Given the description of an element on the screen output the (x, y) to click on. 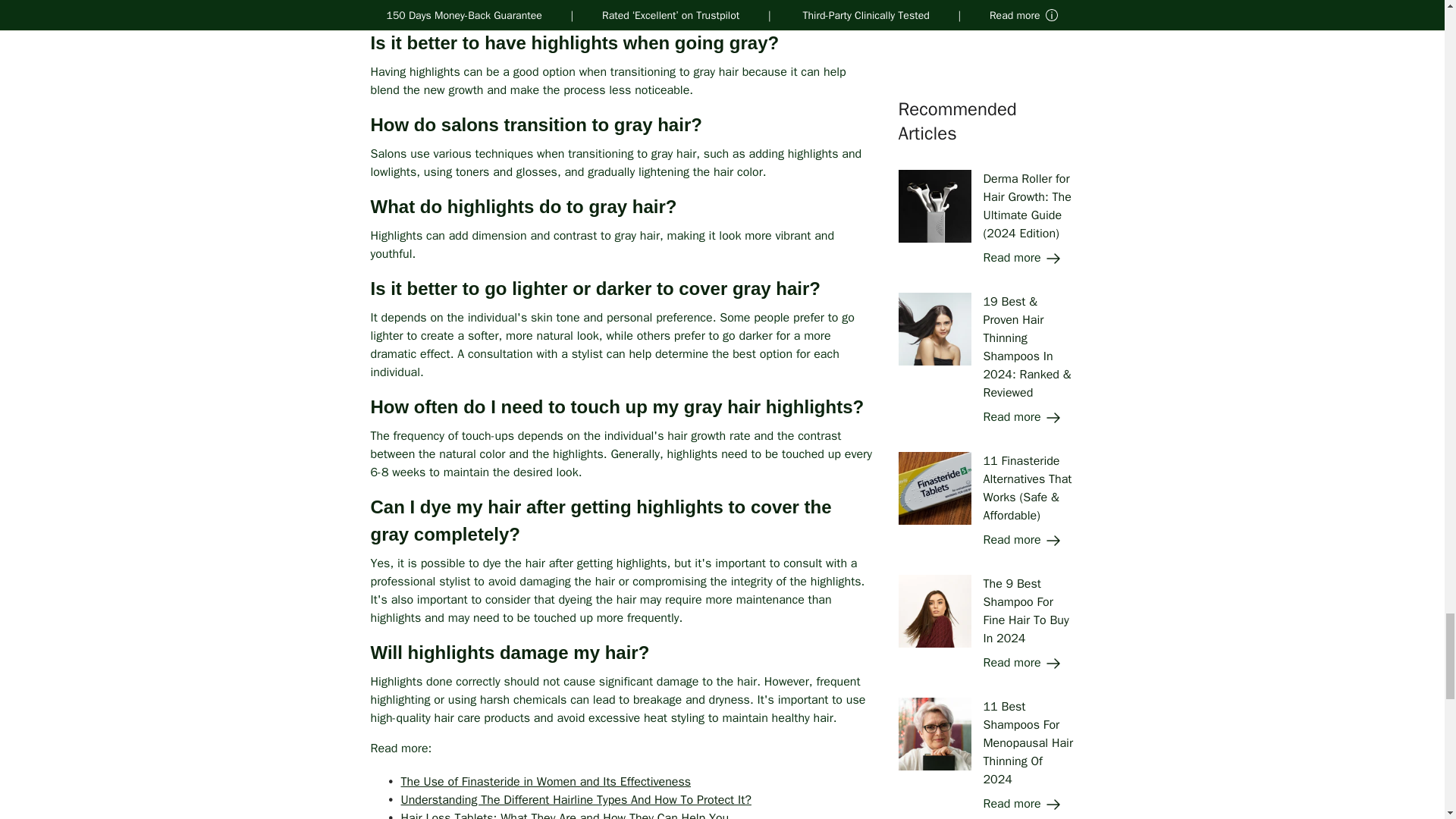
Hair Loss Tablets: What They Are and How They Can Help You (564, 814)
The Use of Finasteride in Women and Its Effectiveness (545, 781)
